Given the description of an element on the screen output the (x, y) to click on. 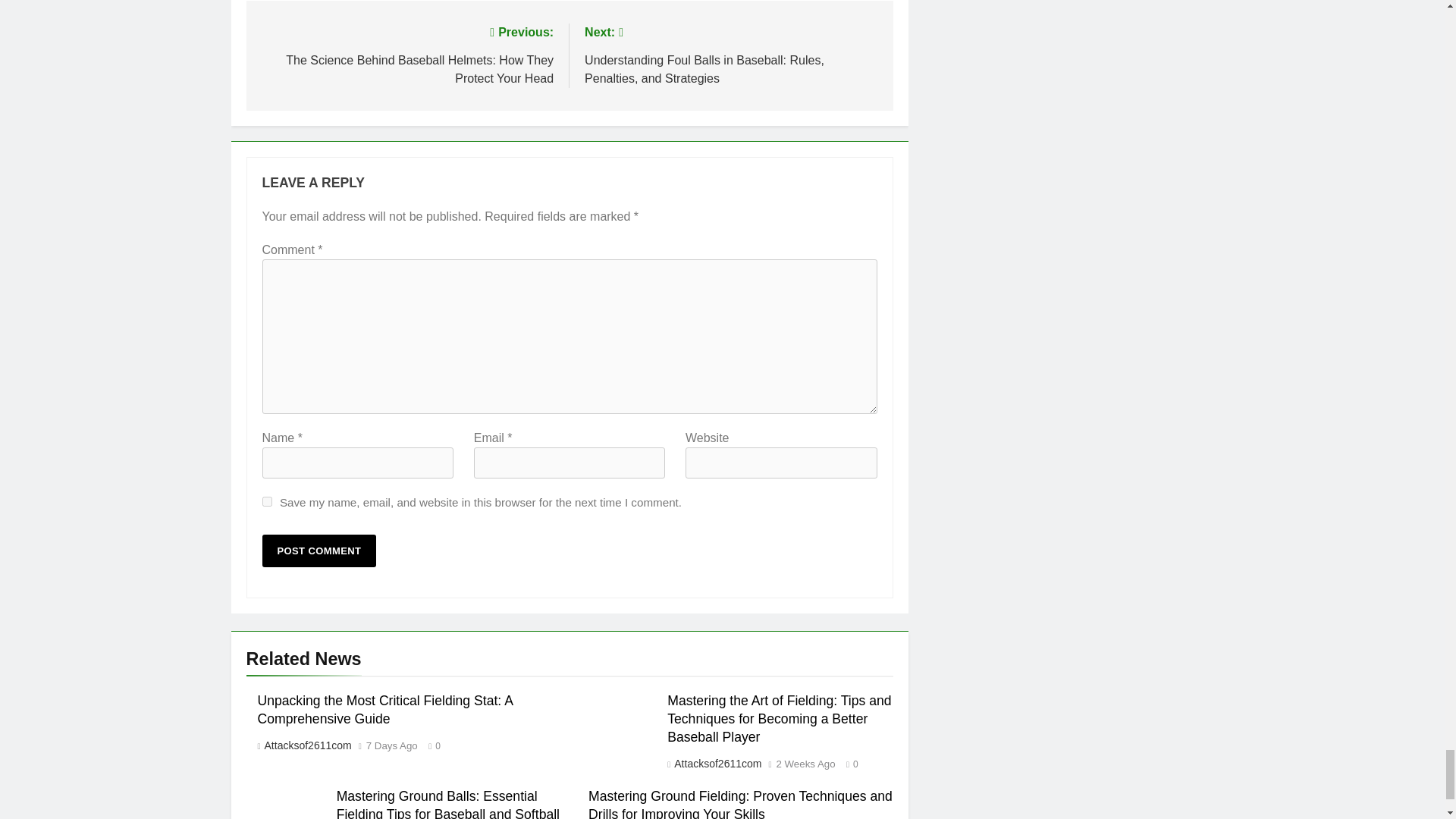
yes (267, 501)
Post Comment (319, 550)
